Given the description of an element on the screen output the (x, y) to click on. 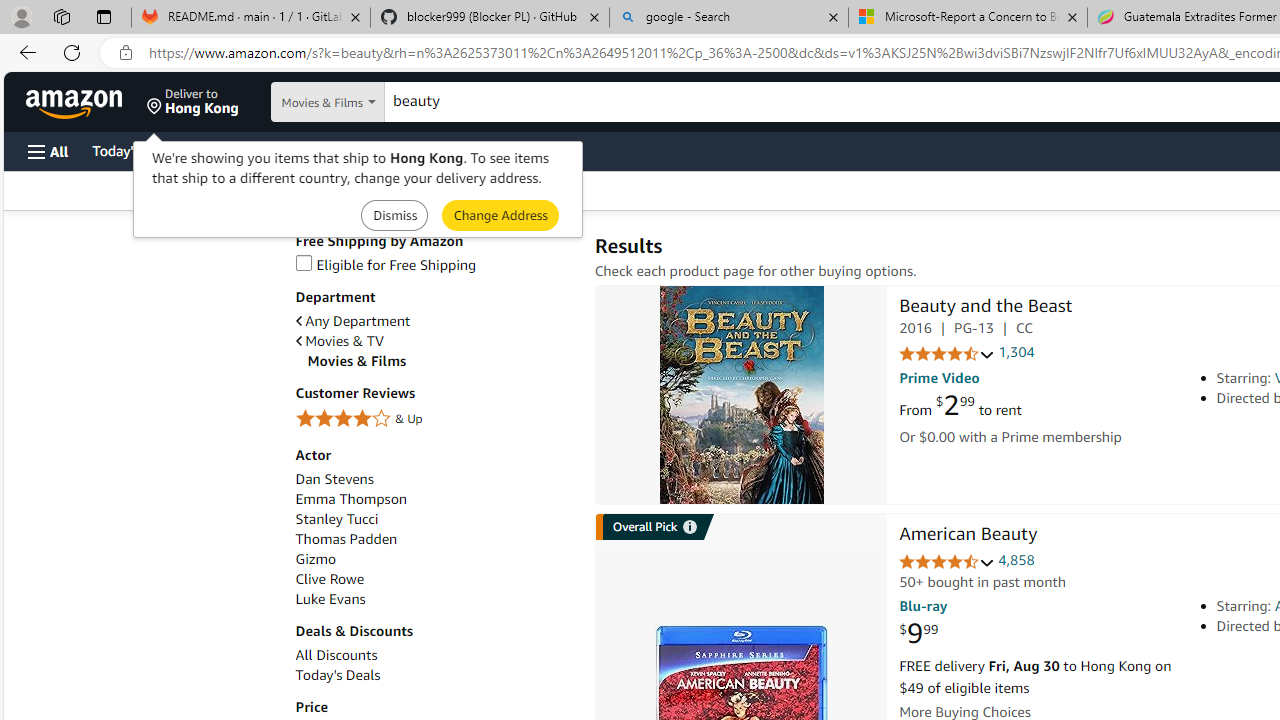
Stanley Tucci (434, 519)
Gift Cards (442, 150)
Open Menu (48, 151)
1,304 (1016, 352)
Dan Stevens (333, 479)
Emma Thompson (350, 499)
Thomas Padden (346, 538)
Prime Video (939, 378)
Any Department (434, 321)
4 Stars & Up& Up (434, 420)
Beauty and the Beast (985, 308)
Dan Stevens (434, 479)
$9.99 (918, 634)
Amazon (76, 101)
